Given the description of an element on the screen output the (x, y) to click on. 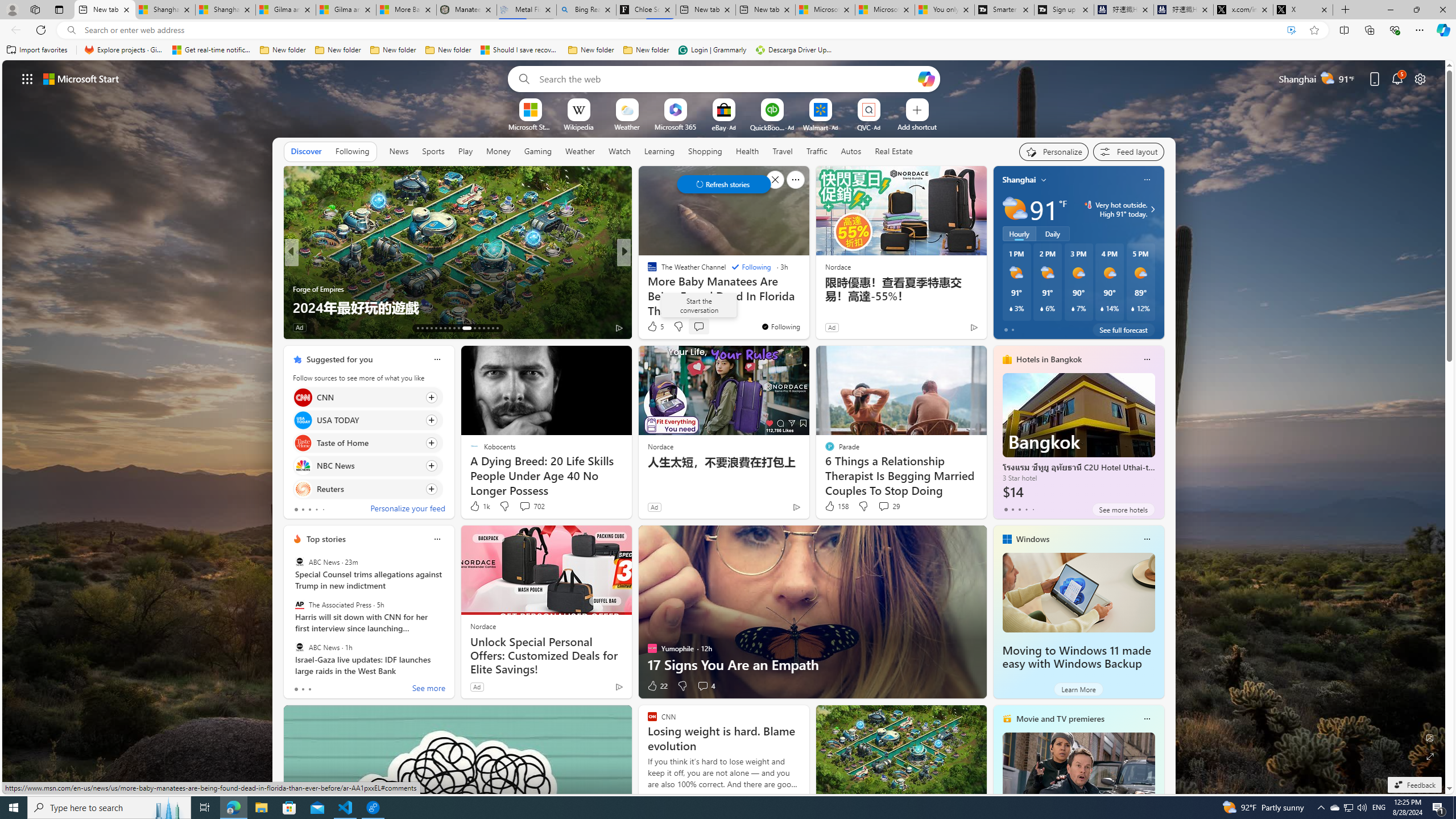
Top 10 Worst Things To Do When Camping (807, 307)
AutomationID: tab-14 (422, 328)
Health (746, 151)
Import favorites (36, 49)
Class: icon-img (1146, 718)
Shanghai (1018, 179)
How to Survive (647, 288)
